Given the description of an element on the screen output the (x, y) to click on. 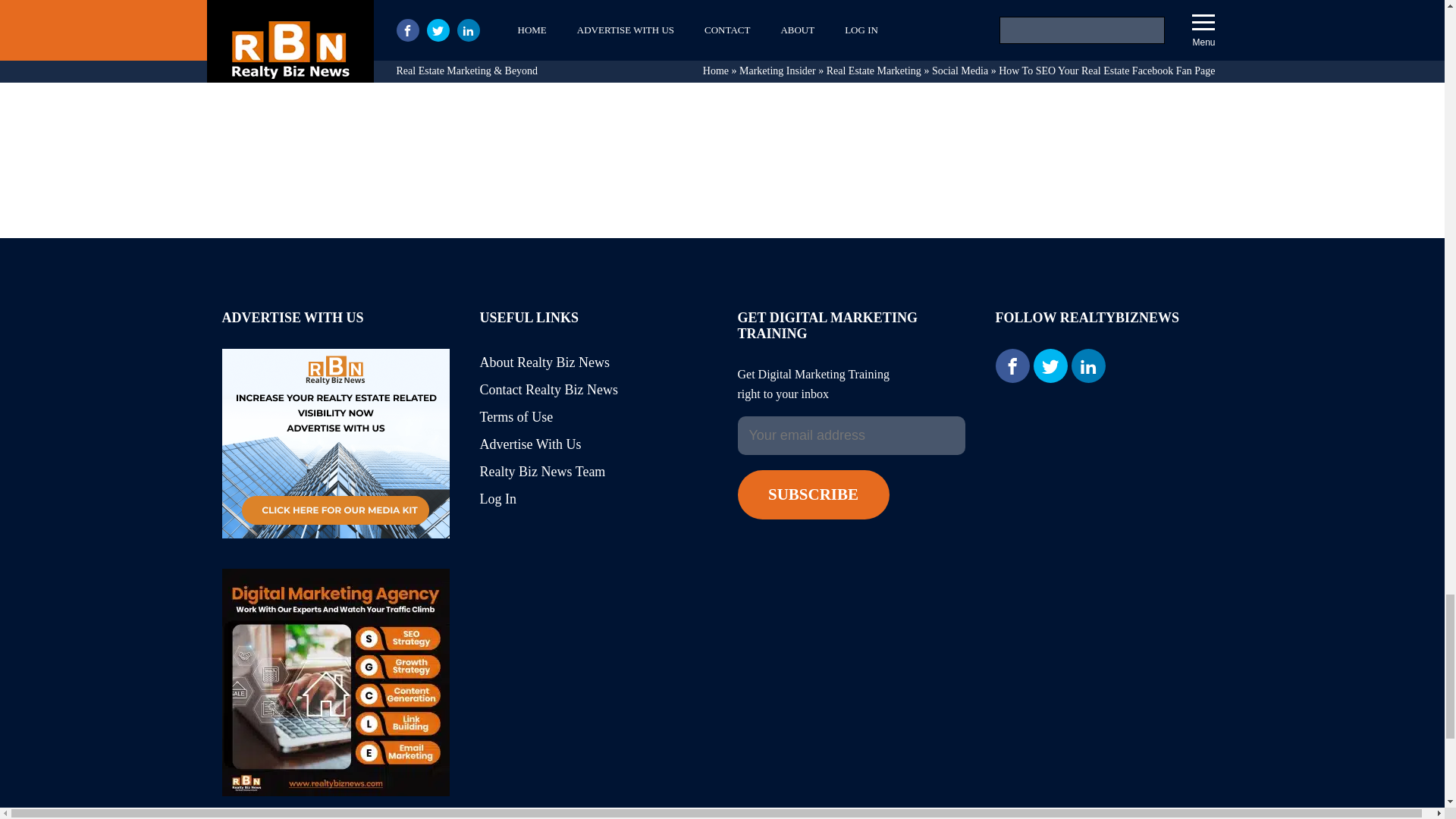
Subscribe (812, 494)
Advertisement (721, 29)
